Given the description of an element on the screen output the (x, y) to click on. 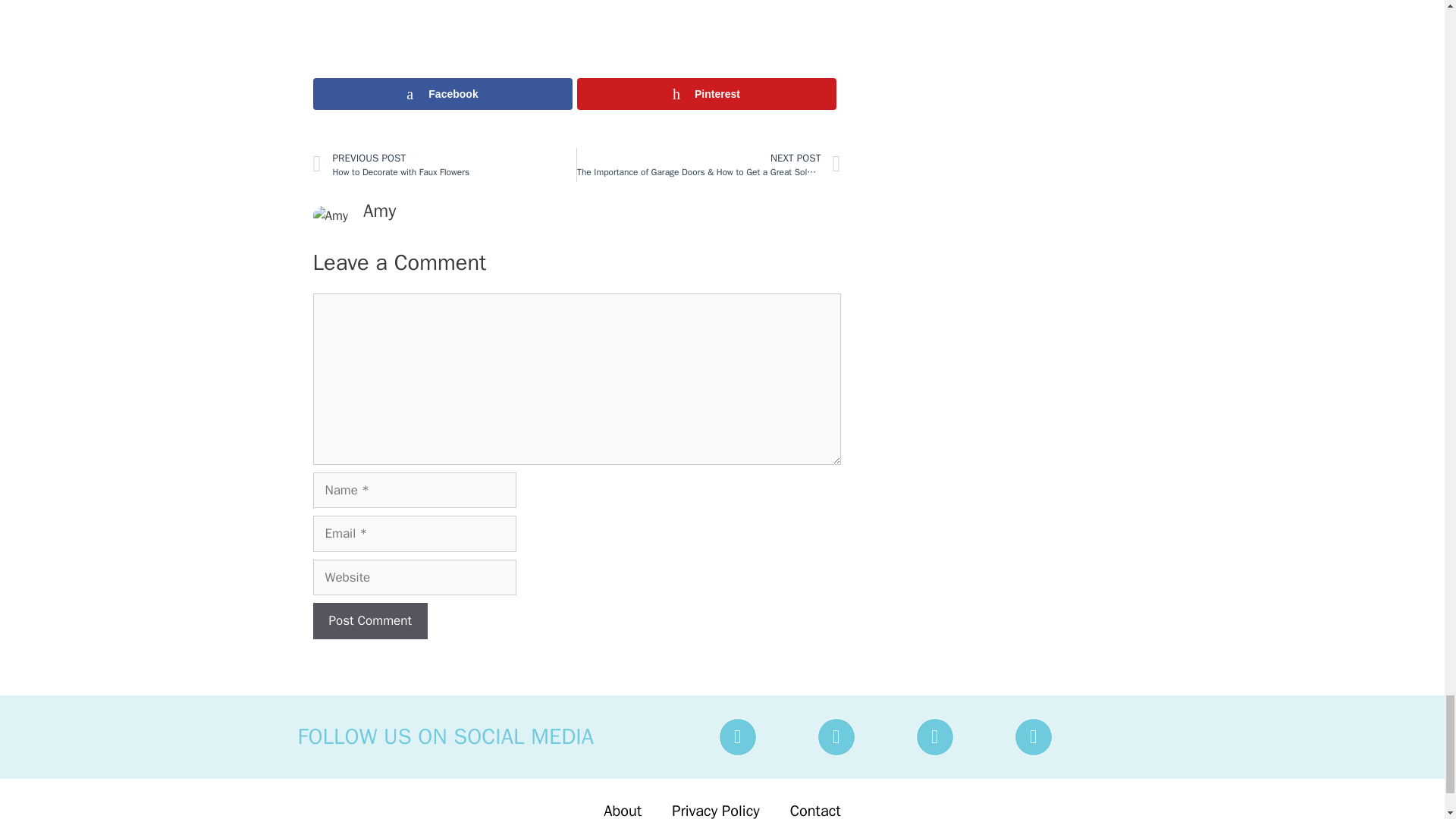
Pinterest (705, 93)
Post Comment (444, 164)
Post Comment (369, 620)
Facebook (369, 620)
